Given the description of an element on the screen output the (x, y) to click on. 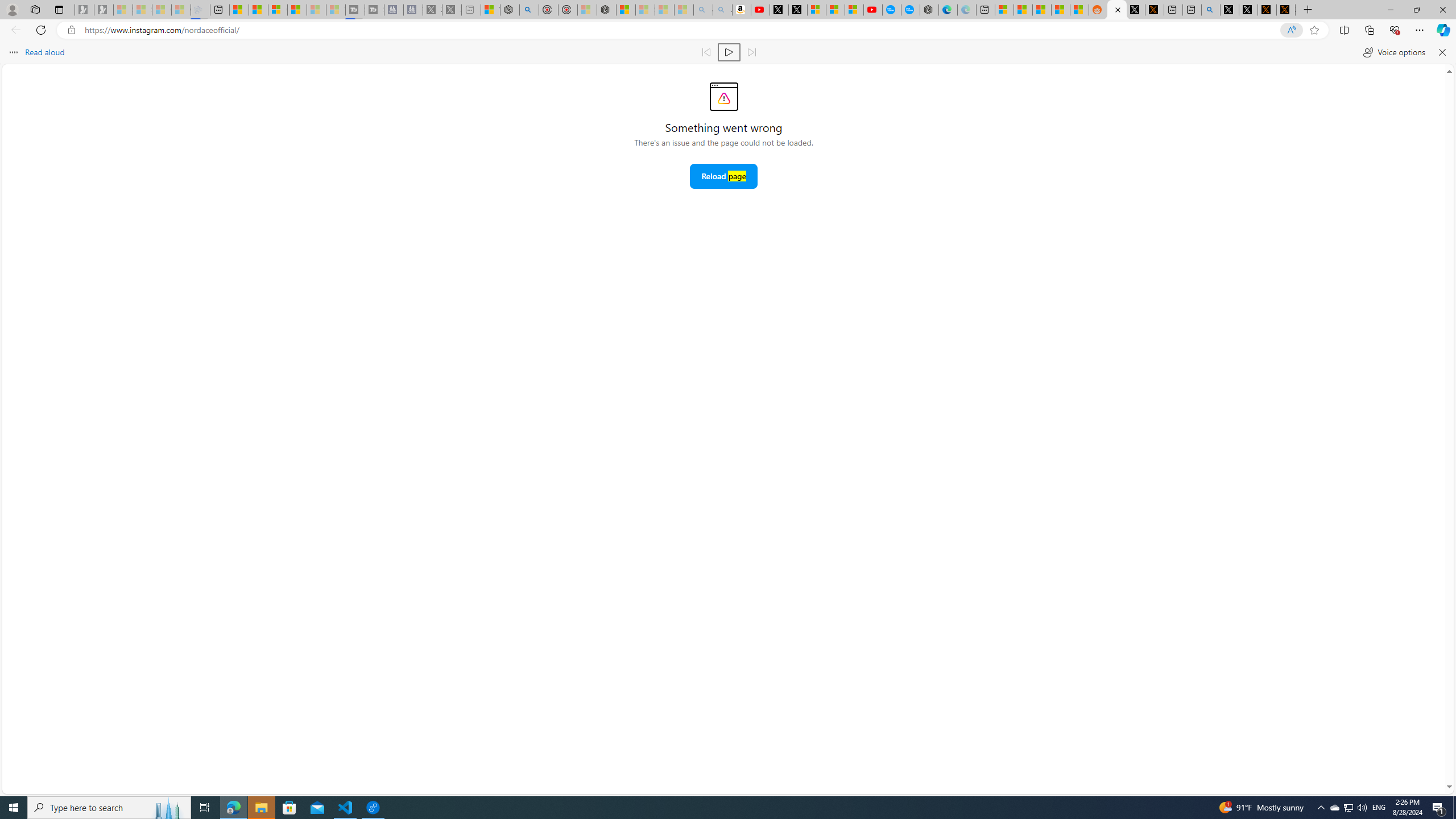
Nordace - Nordace has arrived Hong Kong (929, 9)
Profile / X (1229, 9)
The most popular Google 'how to' searches (910, 9)
GitHub (@github) / X (1248, 9)
X Privacy Policy (1285, 9)
poe - Search (529, 9)
Gloom - YouTube (872, 9)
amazon - Search - Sleeping (702, 9)
